Given the description of an element on the screen output the (x, y) to click on. 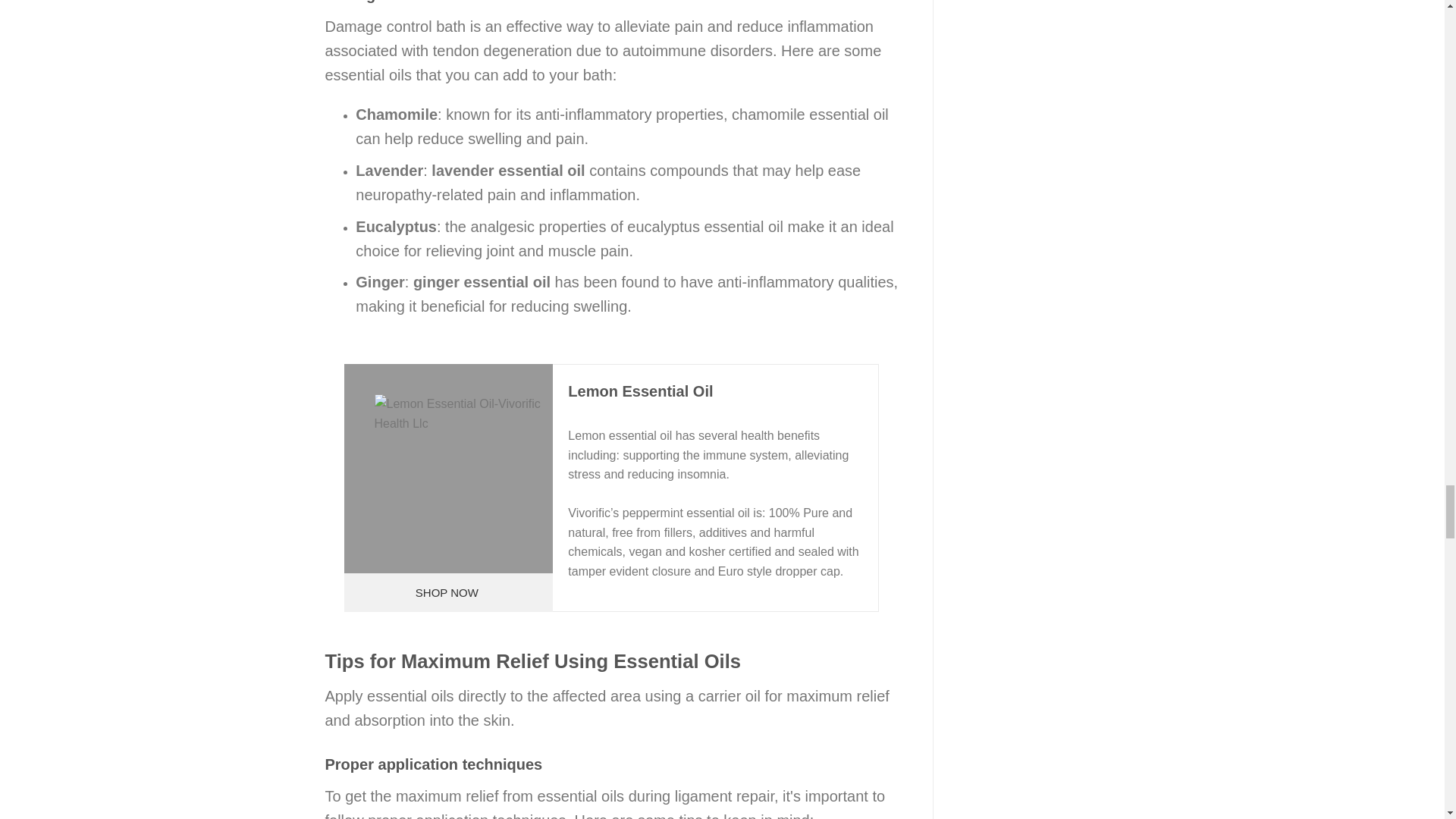
Lemon Essential Oil-Vivorific Health Llc (463, 483)
